Given the description of an element on the screen output the (x, y) to click on. 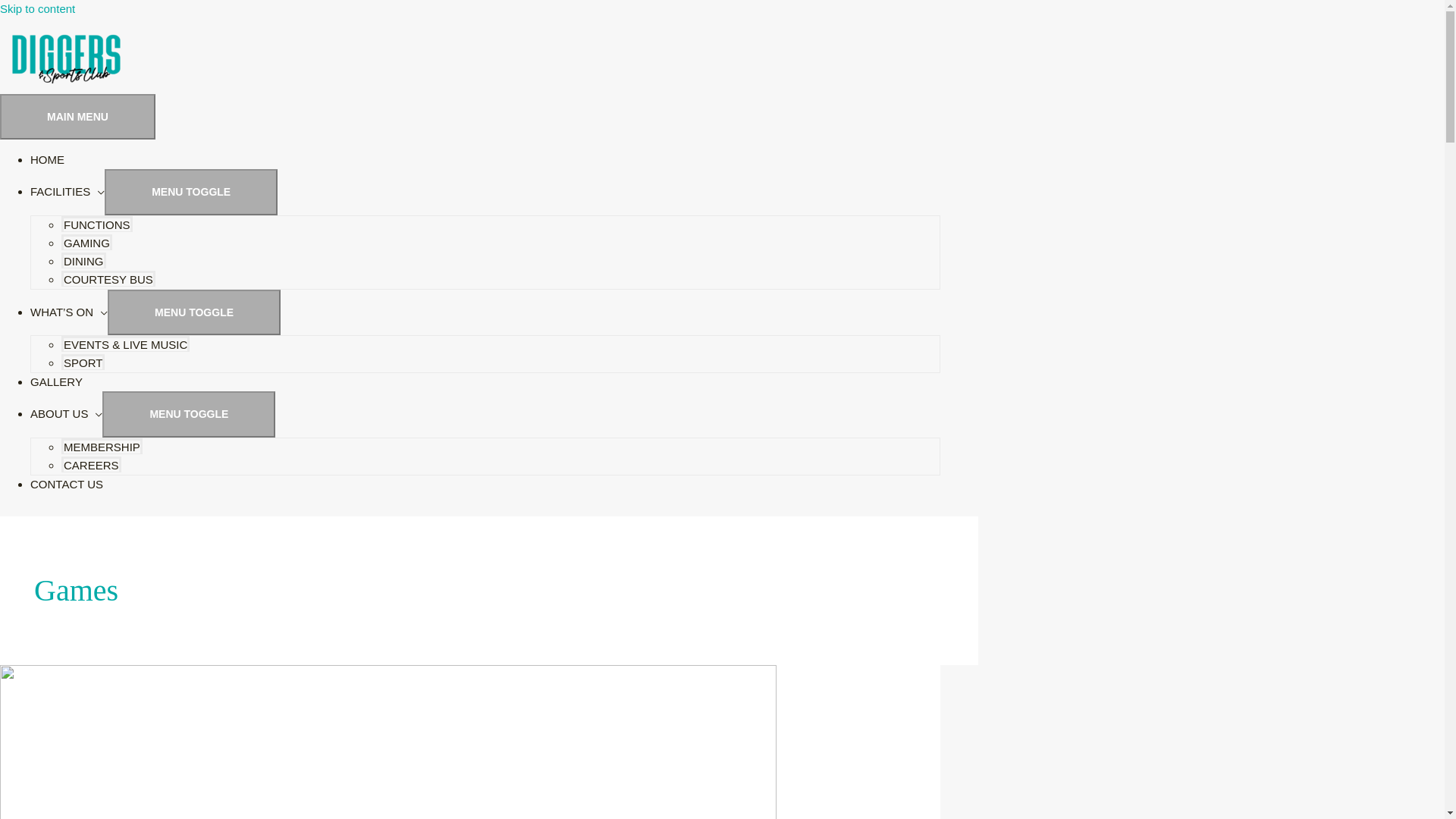
DINING Element type: text (83, 260)
ABOUT US Element type: text (66, 413)
MENU TOGGLE Element type: text (188, 413)
MAIN MENU Element type: text (77, 116)
GAMING Element type: text (86, 242)
MENU TOGGLE Element type: text (193, 312)
FACILITIES Element type: text (67, 191)
Skip to content Element type: text (37, 8)
FUNCTIONS Element type: text (96, 224)
CAREERS Element type: text (91, 464)
SPORT Element type: text (82, 362)
GALLERY Element type: text (56, 381)
CONTACT US Element type: text (66, 483)
EVENTS & LIVE MUSIC Element type: text (125, 343)
COURTESY BUS Element type: text (108, 278)
MENU TOGGLE Element type: text (190, 191)
MEMBERSHIP Element type: text (101, 446)
HOME Element type: text (47, 159)
